Given the description of an element on the screen output the (x, y) to click on. 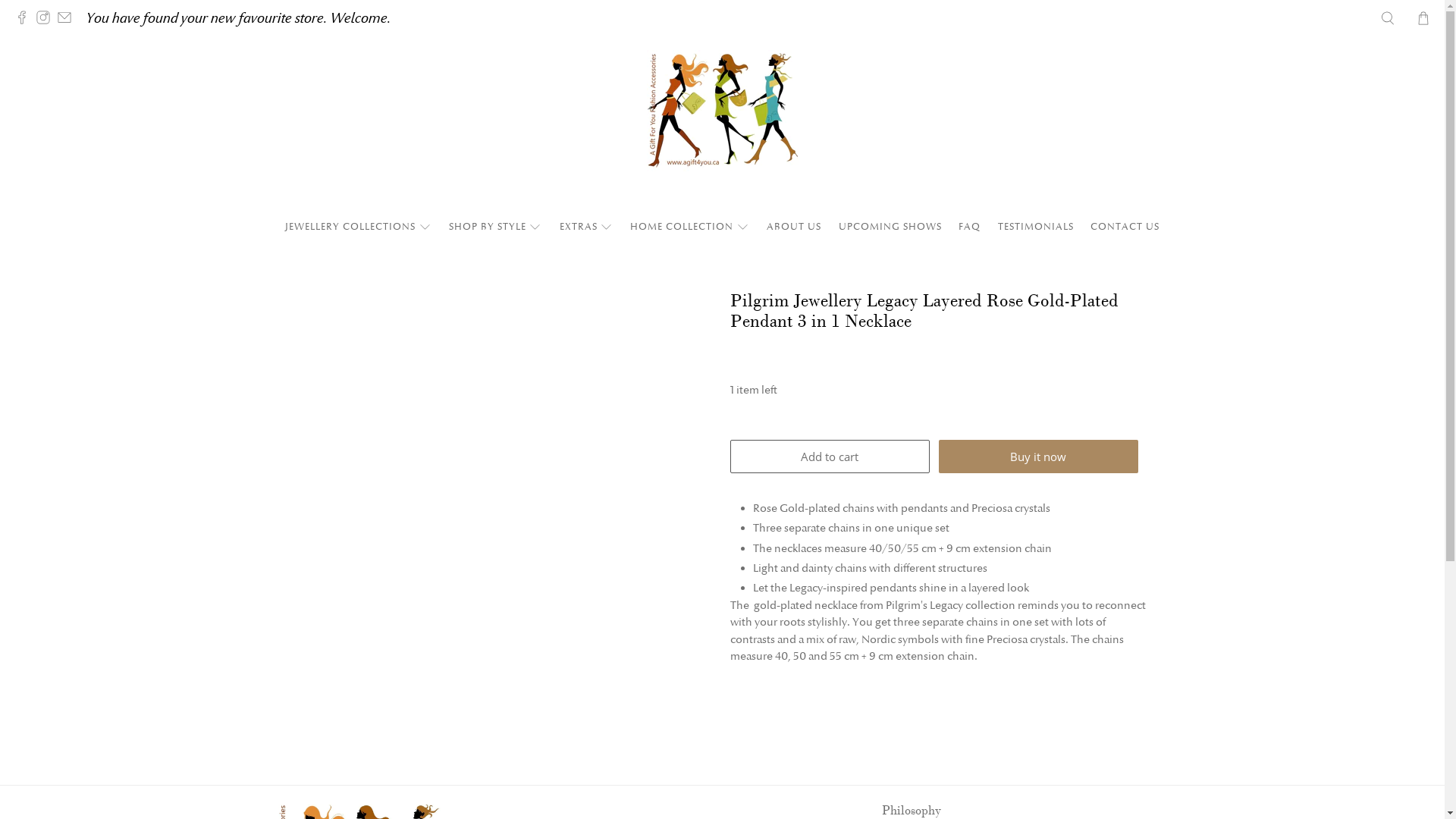
A Gift For You  Element type: hover (721, 125)
Add to cart Element type: text (828, 456)
TESTIMONIALS Element type: text (1035, 226)
JEWELLERY COLLECTIONS Element type: text (358, 226)
Buy it now Element type: text (1038, 456)
UPCOMING SHOWS Element type: text (889, 226)
Email A Gift For You  Element type: hover (67, 19)
HOME COLLECTION Element type: text (689, 226)
EXTRAS Element type: text (585, 226)
FAQ Element type: text (969, 226)
SHOP BY STYLE Element type: text (494, 226)
ABOUT US Element type: text (794, 226)
A Gift For You  on Facebook Element type: hover (25, 19)
CONTACT US Element type: text (1125, 226)
A Gift For You  on Instagram Element type: hover (46, 19)
